Given the description of an element on the screen output the (x, y) to click on. 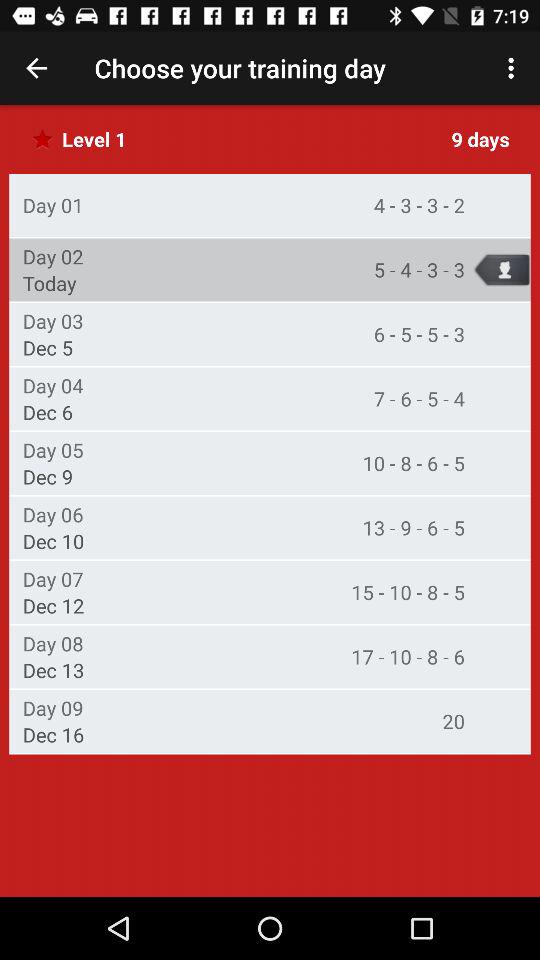
turn off icon next to 5 4 3 (49, 283)
